Given the description of an element on the screen output the (x, y) to click on. 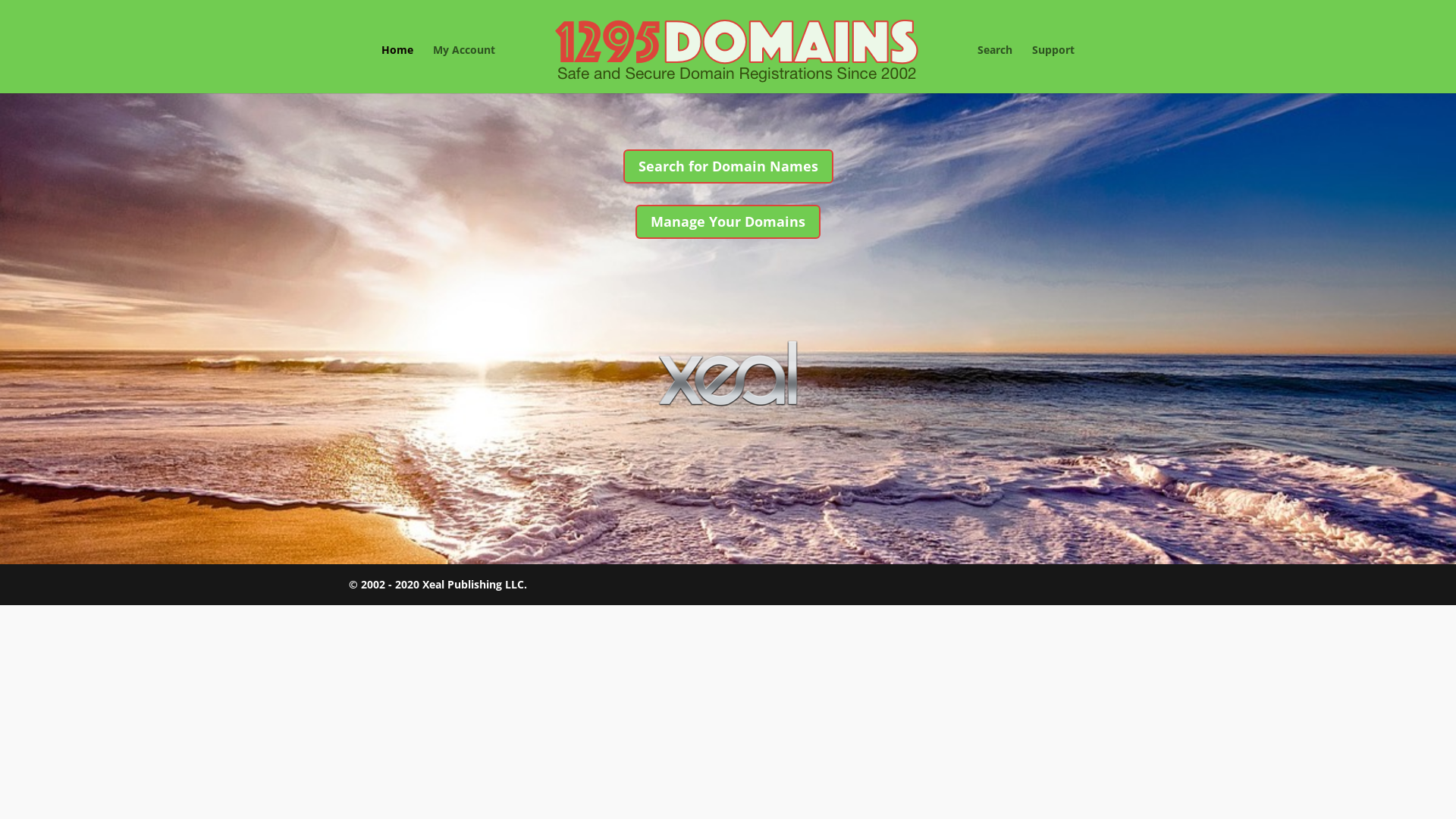
Search Element type: text (994, 68)
My Account Element type: text (464, 68)
Support Element type: text (1053, 68)
Home Element type: text (397, 68)
Manage Your Domains Element type: text (727, 221)
Search for Domain Names Element type: text (728, 166)
